Given the description of an element on the screen output the (x, y) to click on. 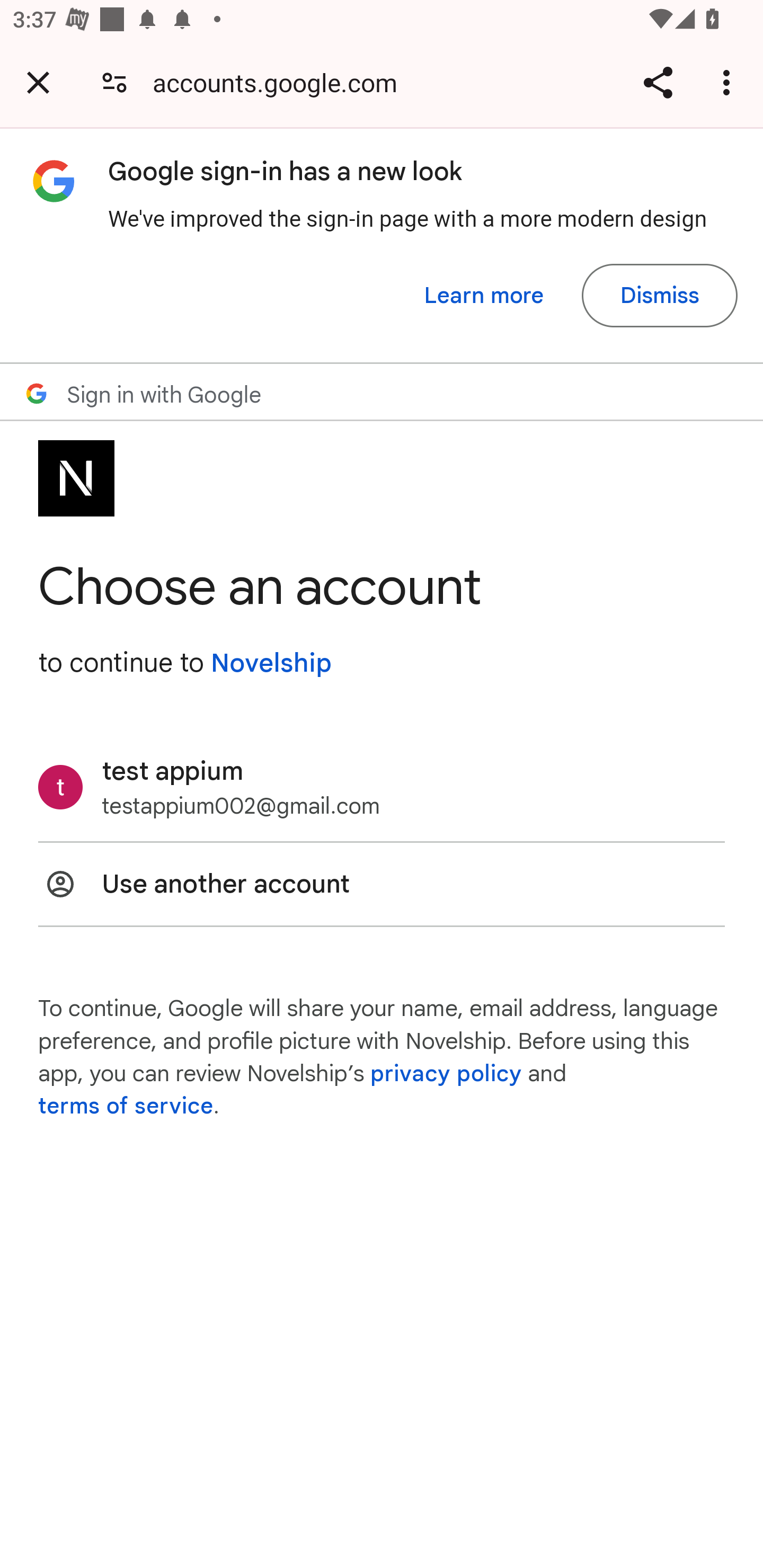
Close tab (38, 82)
Share (657, 82)
Customize and control Google Chrome (729, 82)
Connection is secure (114, 81)
accounts.google.com (281, 81)
Learn more (483, 295)
Dismiss (659, 295)
Novelship (270, 663)
Use another account (381, 884)
privacy policy (445, 1072)
terms of service (126, 1106)
